Given the description of an element on the screen output the (x, y) to click on. 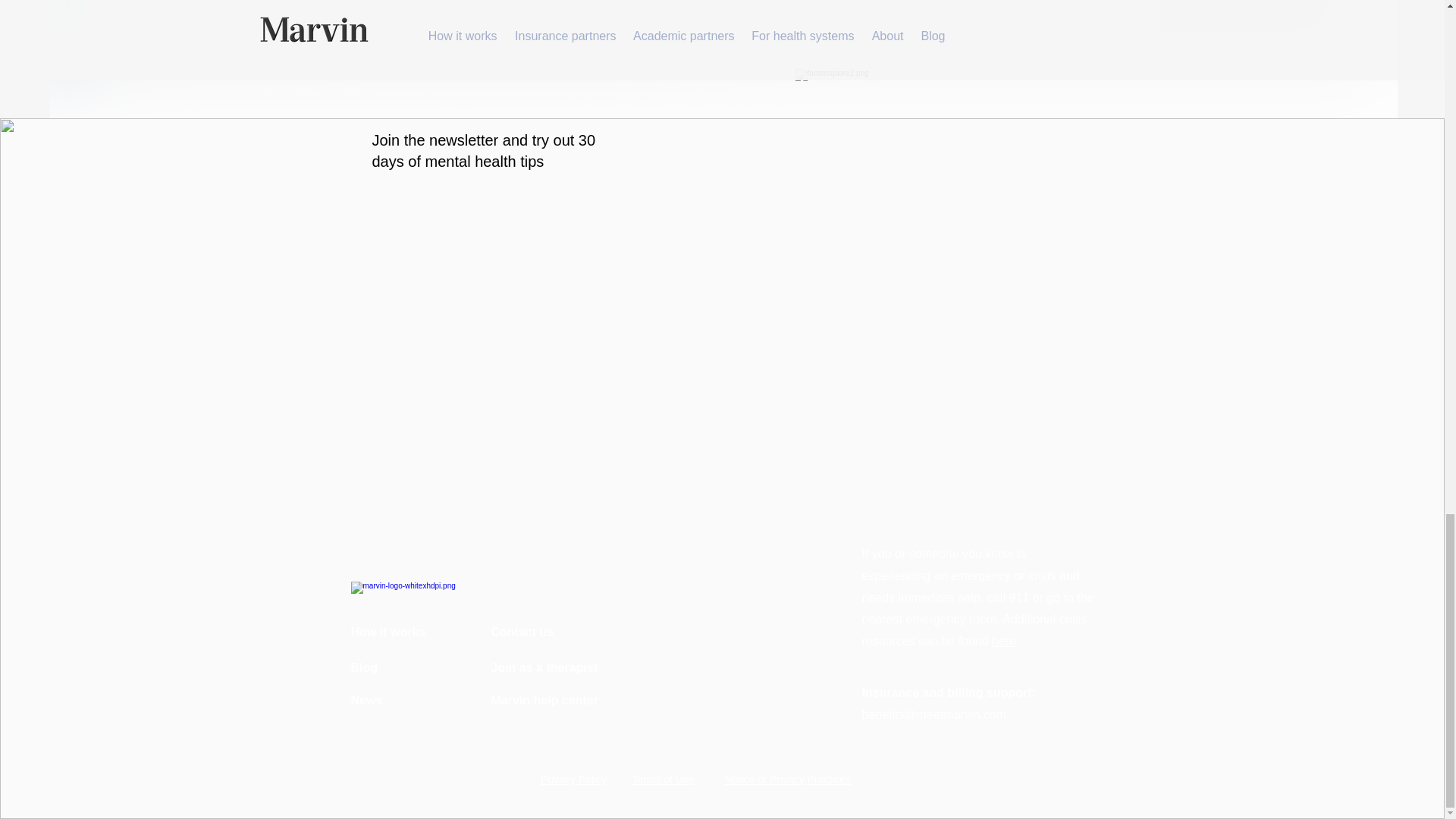
Contact us (523, 631)
Terms of Use (662, 779)
Notice of Privacy Practices (788, 779)
Blog (363, 667)
Marvin help center (545, 699)
Privacy Policy (573, 779)
News (365, 699)
How it works (387, 631)
Join as a therapist (545, 667)
here (1003, 640)
